Given the description of an element on the screen output the (x, y) to click on. 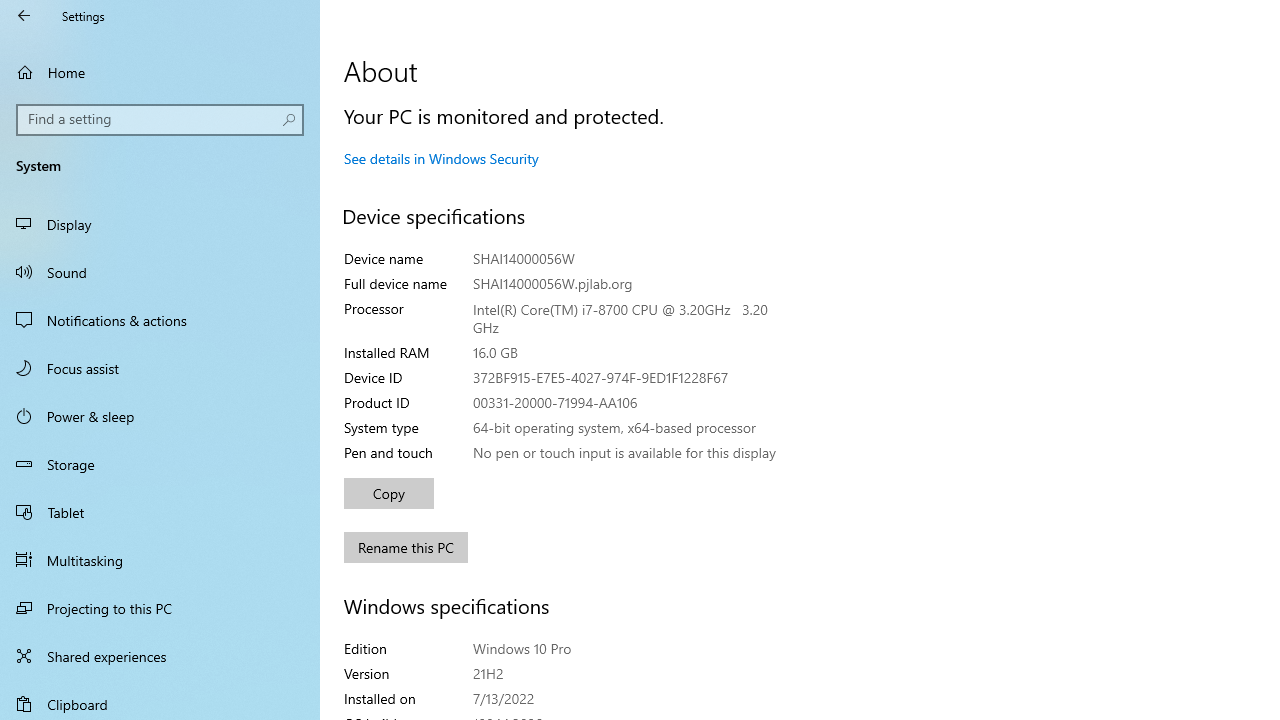
Tablet (160, 511)
Projecting to this PC (160, 607)
Notifications & actions (160, 319)
Rename this PC (406, 547)
Multitasking (160, 559)
Power & sleep (160, 415)
Shared experiences (160, 655)
Copy (388, 493)
Back (24, 15)
Display (160, 223)
See details in Windows Security (441, 158)
Focus assist (160, 367)
Home (160, 71)
Storage (160, 463)
Search box, Find a setting (160, 119)
